Given the description of an element on the screen output the (x, y) to click on. 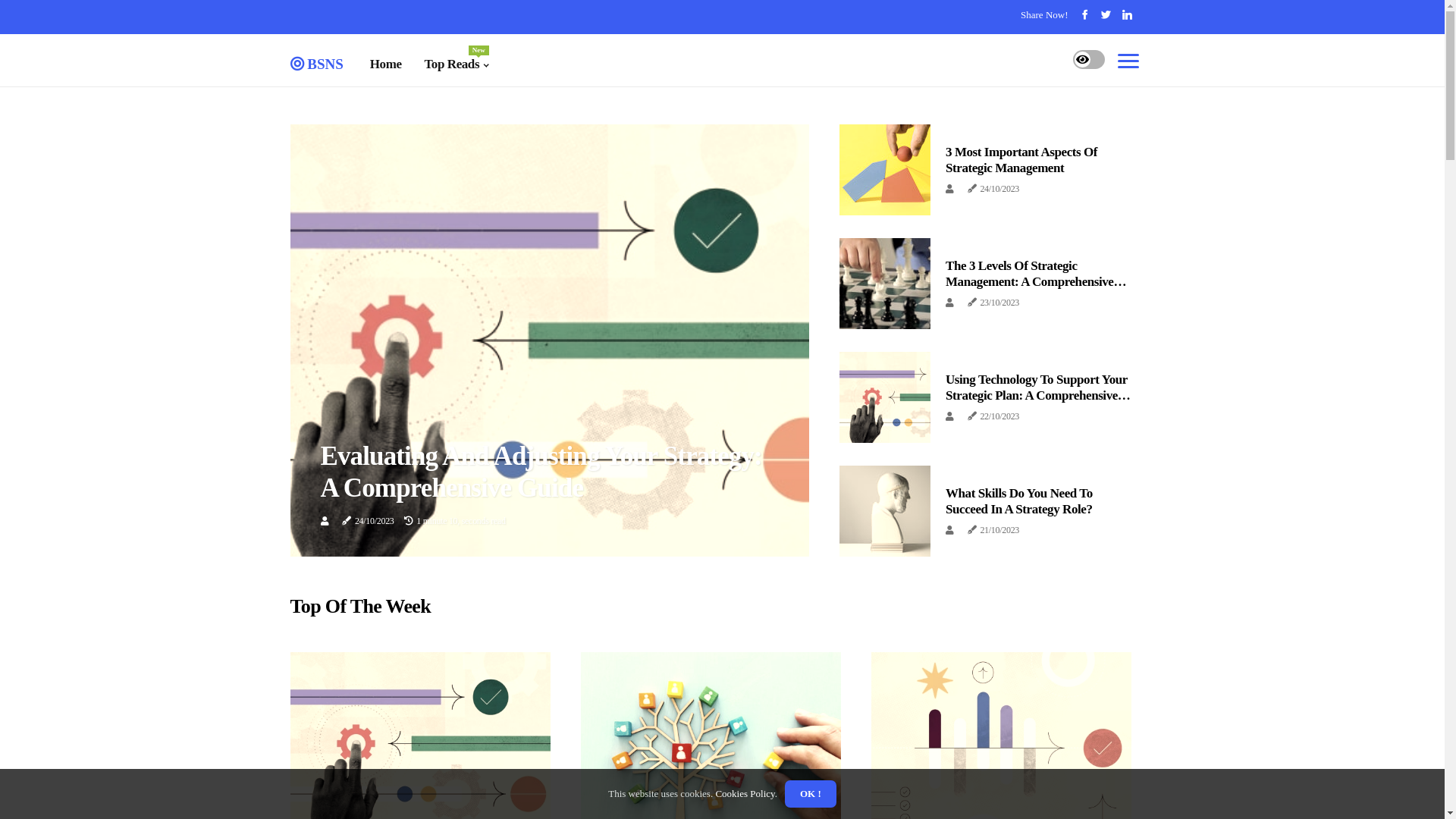
Cookies Policy Element type: text (743, 793)
What Skills Do You Need To Succeed In A Strategy Role? Element type: text (1018, 500)
bsns Element type: text (315, 60)
Home Element type: text (385, 64)
The 3 Levels Of Strategic Management: A Comprehensive Guide Element type: text (1035, 281)
Top Reads
New Element type: text (456, 64)
3 Most Important Aspects Of Strategic Management Element type: text (1021, 159)
